Given the description of an element on the screen output the (x, y) to click on. 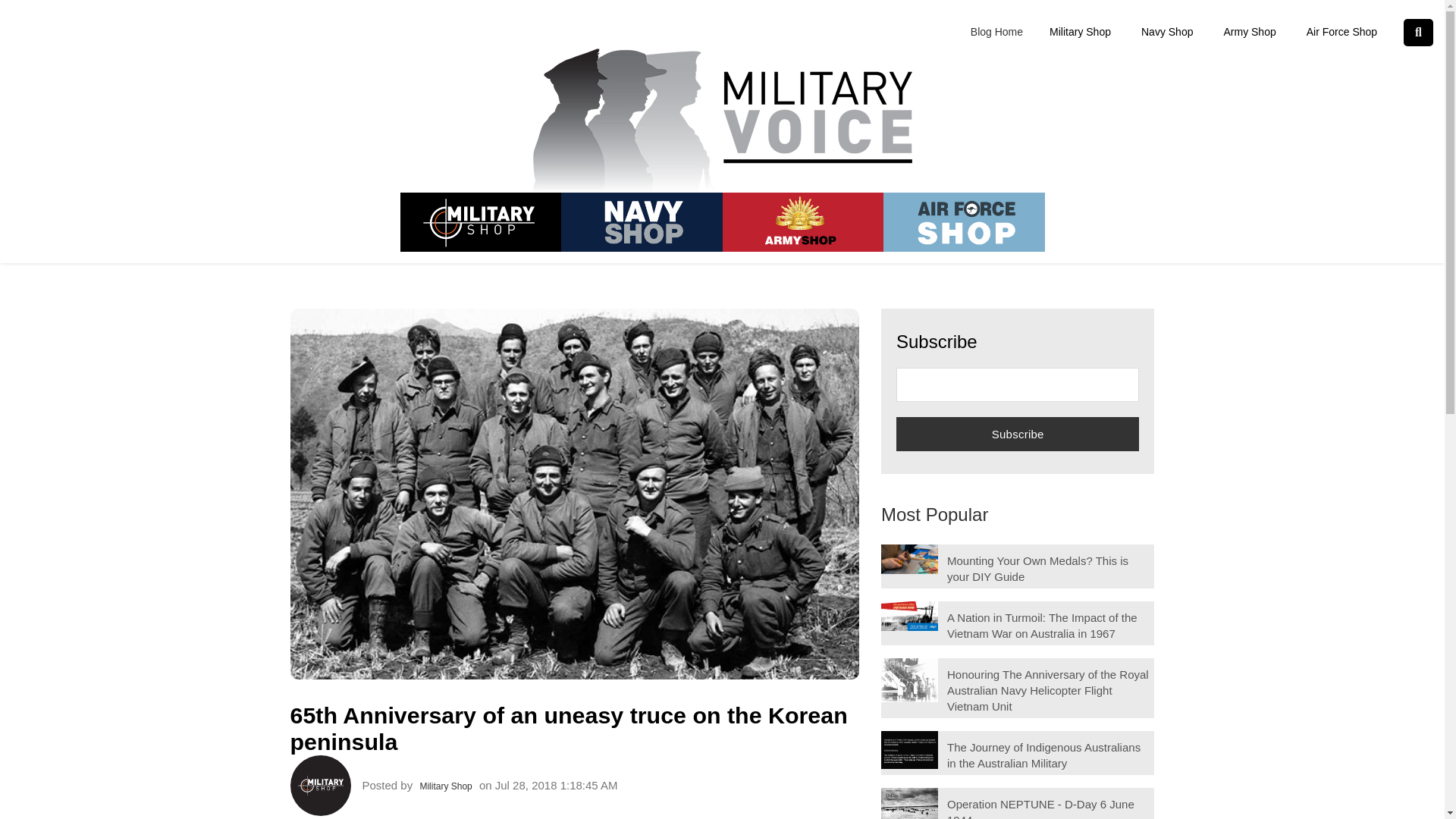
Subscribe (1018, 433)
Subscribe (1018, 433)
Army Shop (1249, 31)
Air Force Shop (1341, 31)
Military Shop (445, 786)
Operation NEPTUNE - D-Day 6 June 1944 (1040, 808)
Mounting Your Own Medals? This is your DIY Guide (1037, 568)
Military Shop (1079, 31)
Blog Home (1002, 31)
Navy Shop (1166, 31)
